Given the description of an element on the screen output the (x, y) to click on. 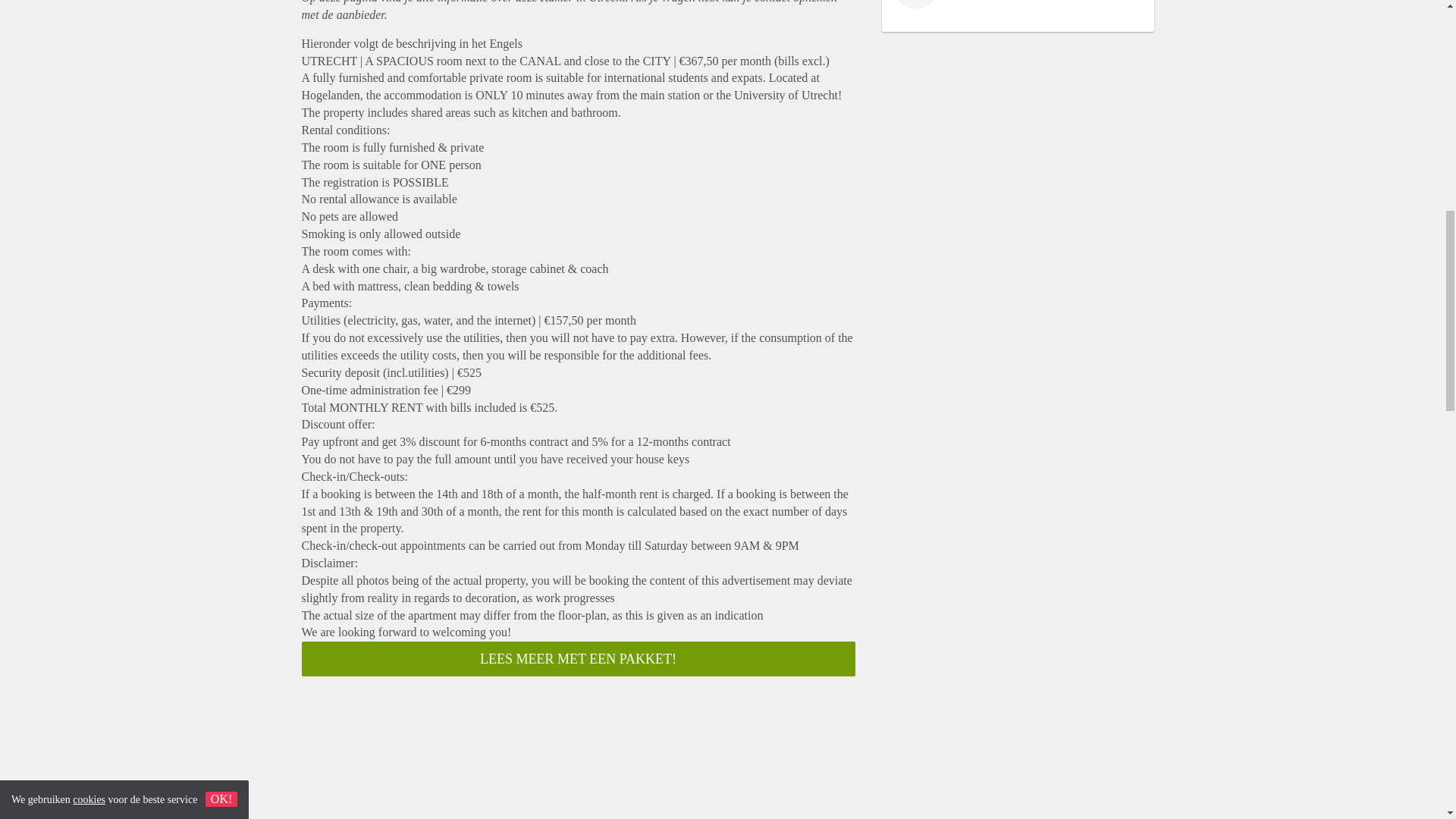
LEES MEER MET EEN PAKKET! (578, 658)
